Given the description of an element on the screen output the (x, y) to click on. 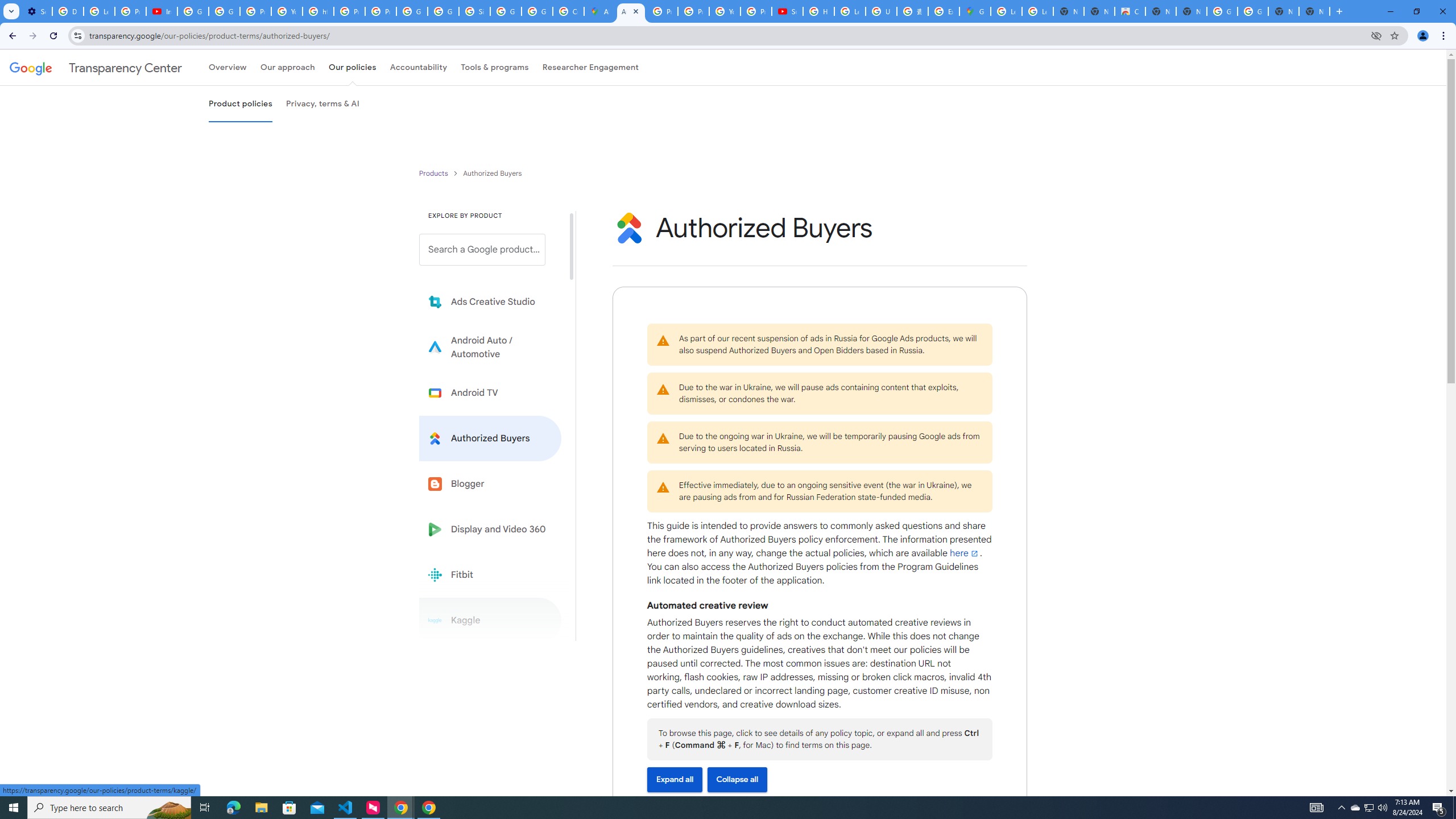
YouTube (724, 11)
Kaggle (490, 619)
Researcher Engagement (590, 67)
Google Account Help (223, 11)
https://scholar.google.com/ (318, 11)
Blogger (490, 483)
Privacy Help Center - Policies Help (349, 11)
Learn more about Authorized Buyers (490, 438)
Learn more about Ads Creative Studio (490, 302)
Google Maps (974, 11)
Settings - Performance (36, 11)
